Given the description of an element on the screen output the (x, y) to click on. 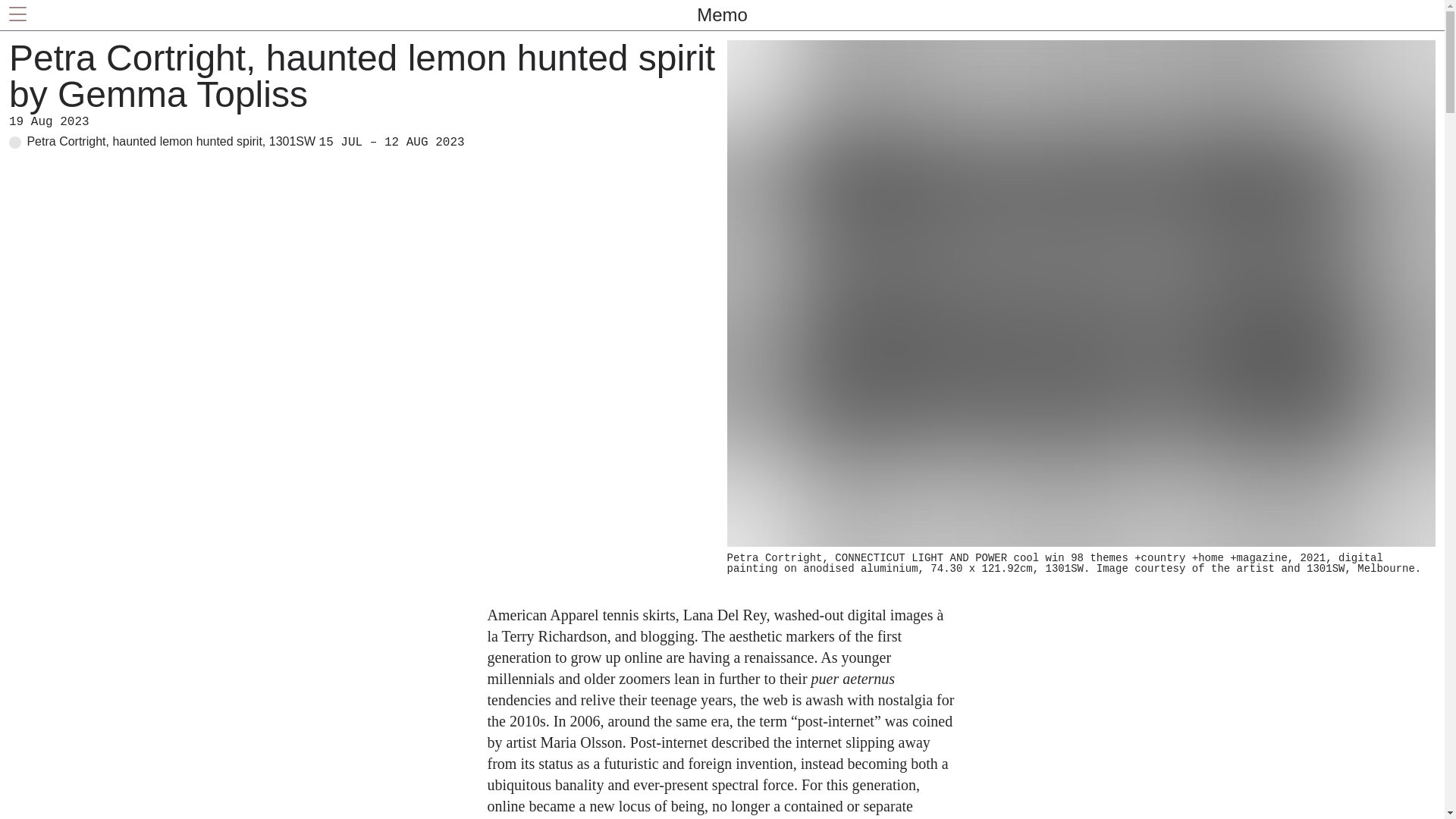
Gemma Topliss (182, 94)
Memo (722, 15)
